Given the description of an element on the screen output the (x, y) to click on. 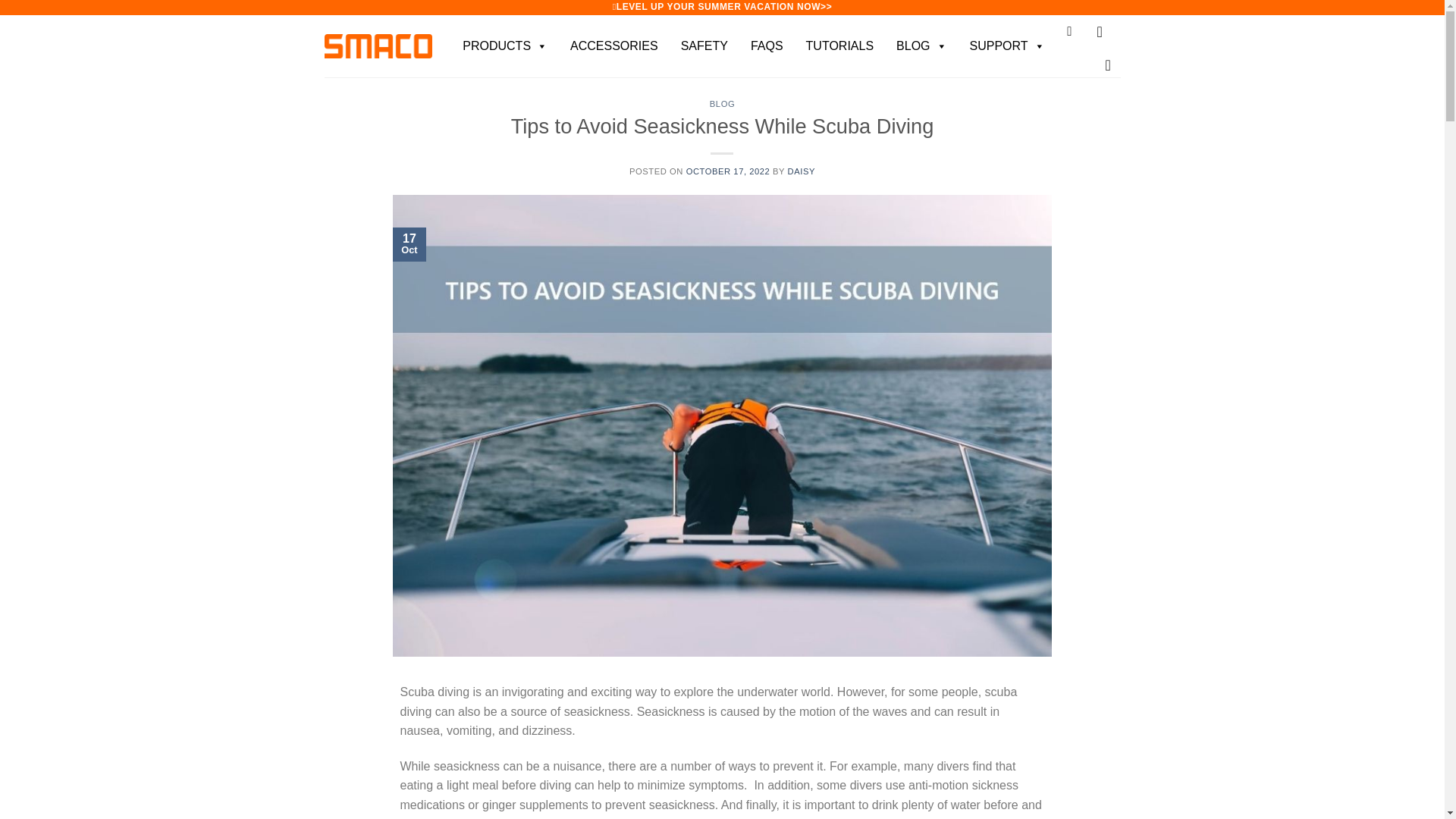
FAQS (769, 46)
ACCESSORIES (617, 46)
PRODUCTS (508, 46)
SUPPORT (1010, 46)
TUTORIALS (843, 46)
SAFETY (707, 46)
BLOG (924, 46)
